Given the description of an element on the screen output the (x, y) to click on. 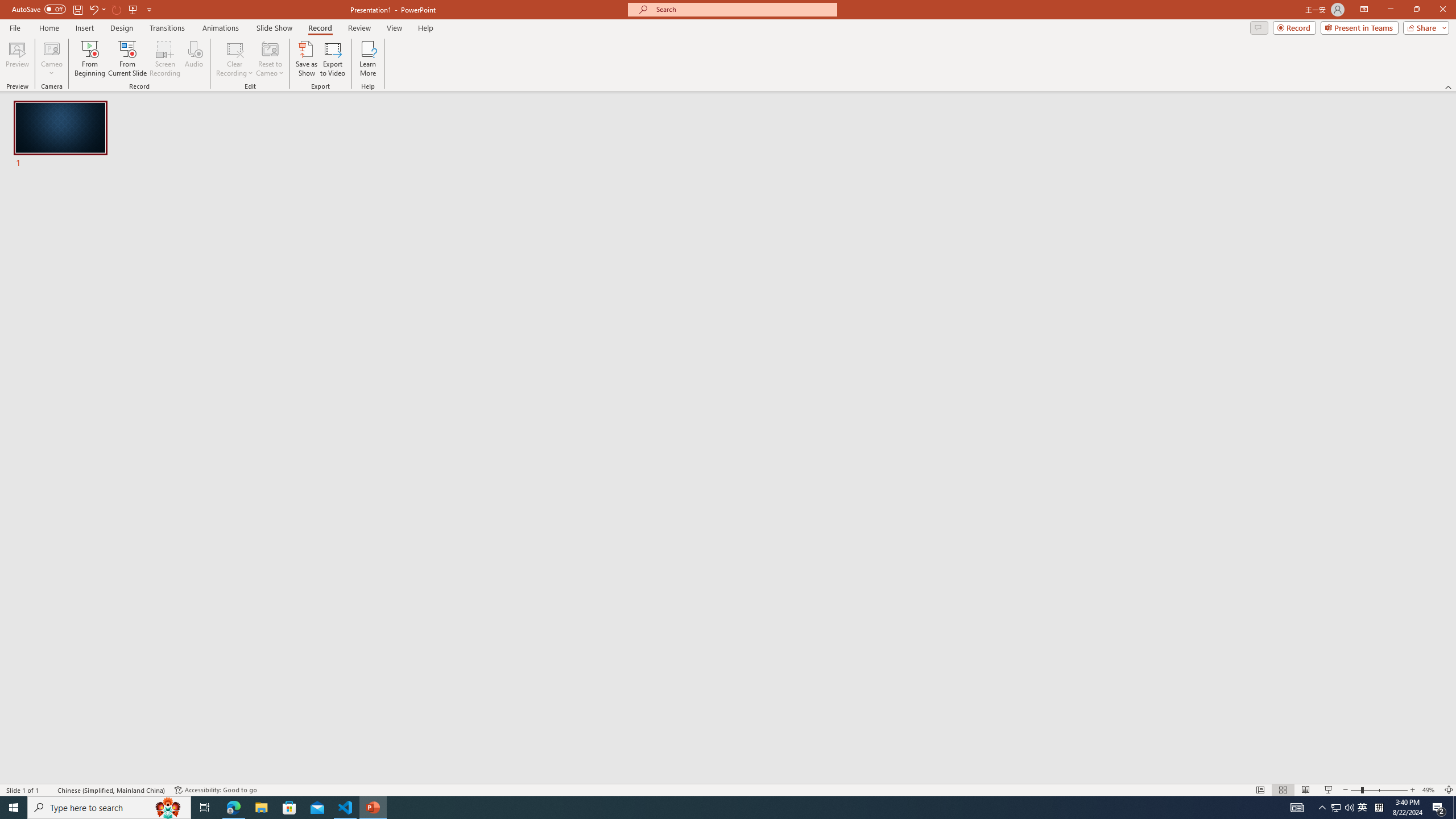
Zoom 49% (1430, 790)
